Given the description of an element on the screen output the (x, y) to click on. 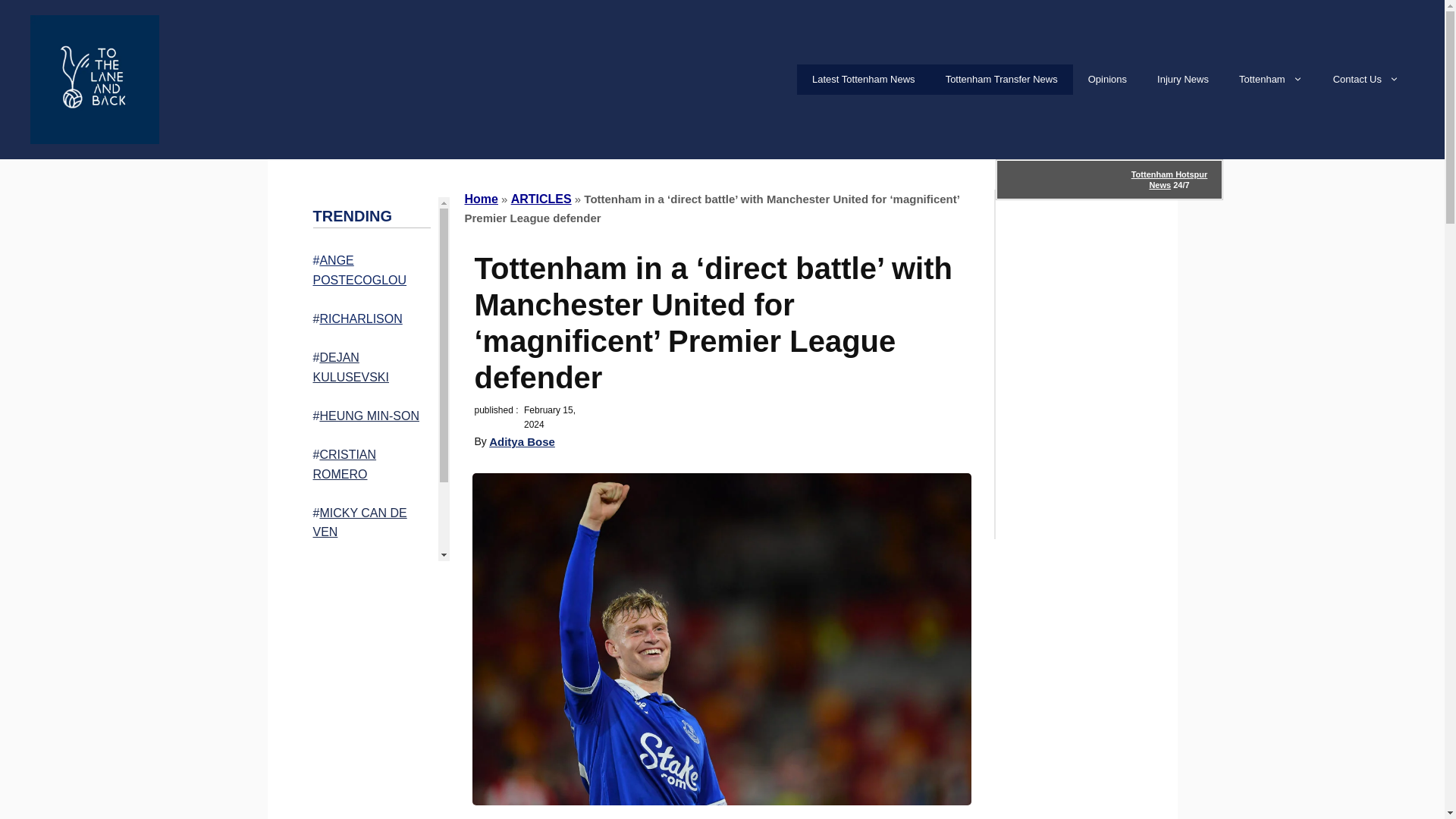
MICKY CAN DE VEN (359, 522)
Home (480, 198)
Tottenham Transfer News (1001, 79)
Injury News (1182, 79)
DEJAN KULUSEVSKI (350, 367)
RICHARLISON (359, 318)
Click here for more Tottenham Hotspur news from NewsNow (1108, 178)
CRISTIAN ROMERO (344, 463)
Opinions (1107, 79)
RADU DRAGUSIN (369, 570)
Tottenham Hotspur News (1169, 179)
Aditya Bose (521, 440)
Latest Tottenham News (863, 79)
Tottenham (1270, 79)
HEUNG MIN-SON (368, 415)
